Given the description of an element on the screen output the (x, y) to click on. 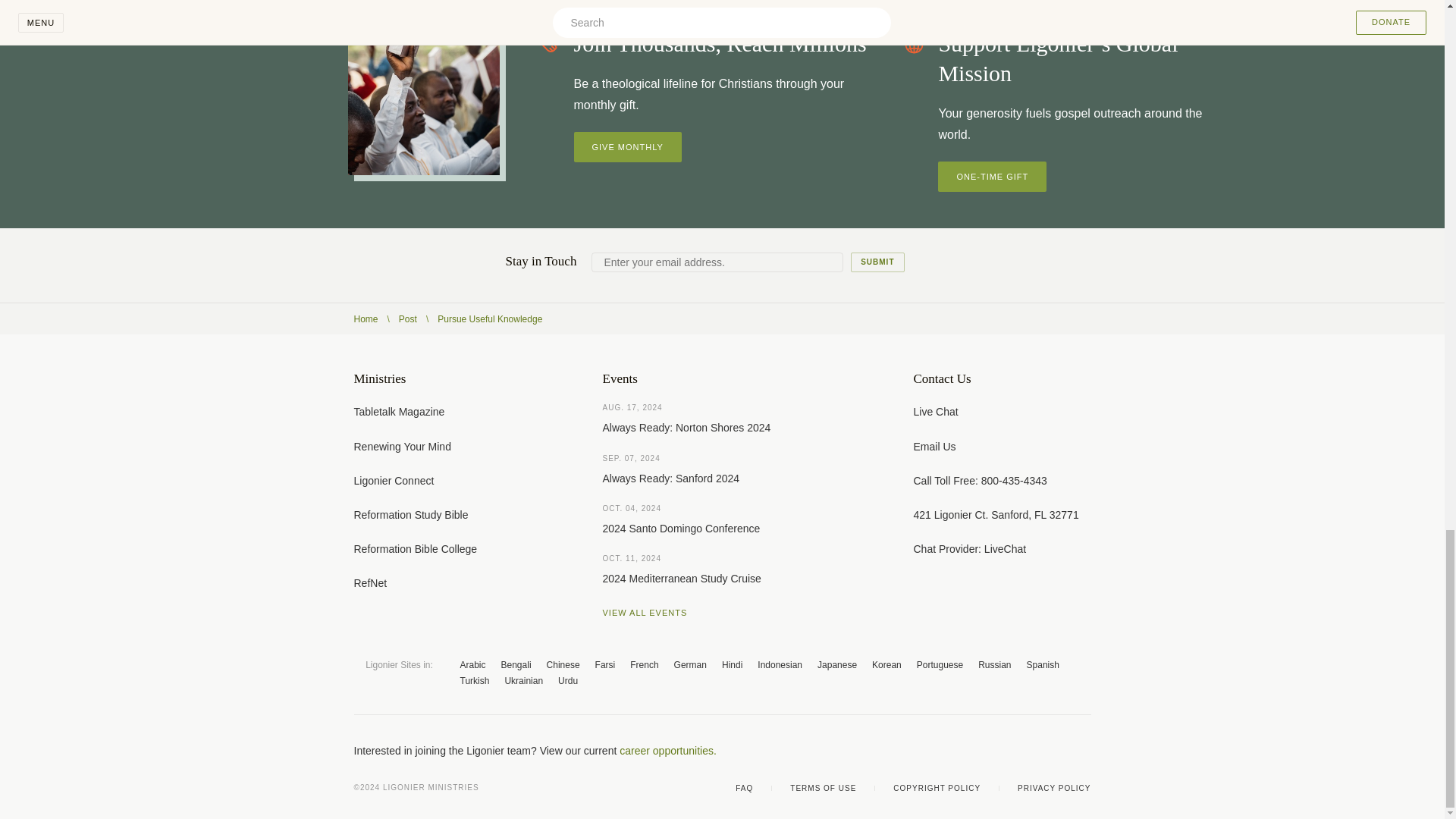
YouTube (1023, 751)
Instagram (1053, 751)
Facebook (962, 751)
Linkedin (1083, 751)
X (993, 751)
